Given the description of an element on the screen output the (x, y) to click on. 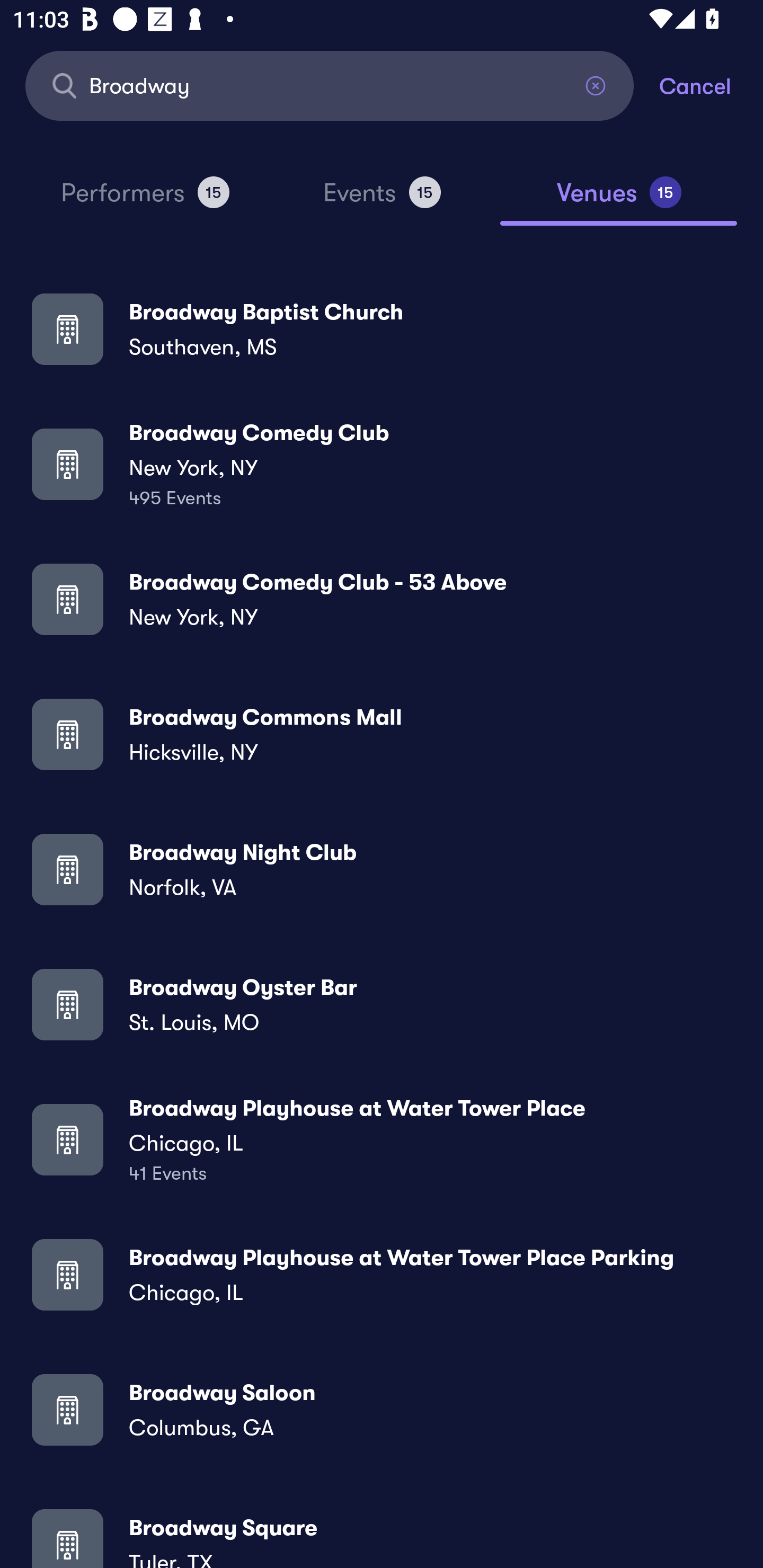
Broadway Find (329, 85)
Broadway Find (329, 85)
Cancel (711, 85)
Performers 15 (144, 200)
Events 15 (381, 200)
Venues 15 (618, 200)
Broadway Baptist Church Southaven, MS (381, 328)
Broadway Comedy Club New York, NY 495 Events (381, 464)
Broadway Comedy Club - 53 Above New York, NY (381, 598)
Broadway Commons Mall Hicksville, NY (381, 734)
Broadway Night Club Norfolk, VA (381, 869)
Broadway Oyster Bar St. Louis, MO (381, 1004)
Broadway Saloon Columbus, GA (381, 1409)
Broadway Square Tyler, TX (381, 1532)
